Given the description of an element on the screen output the (x, y) to click on. 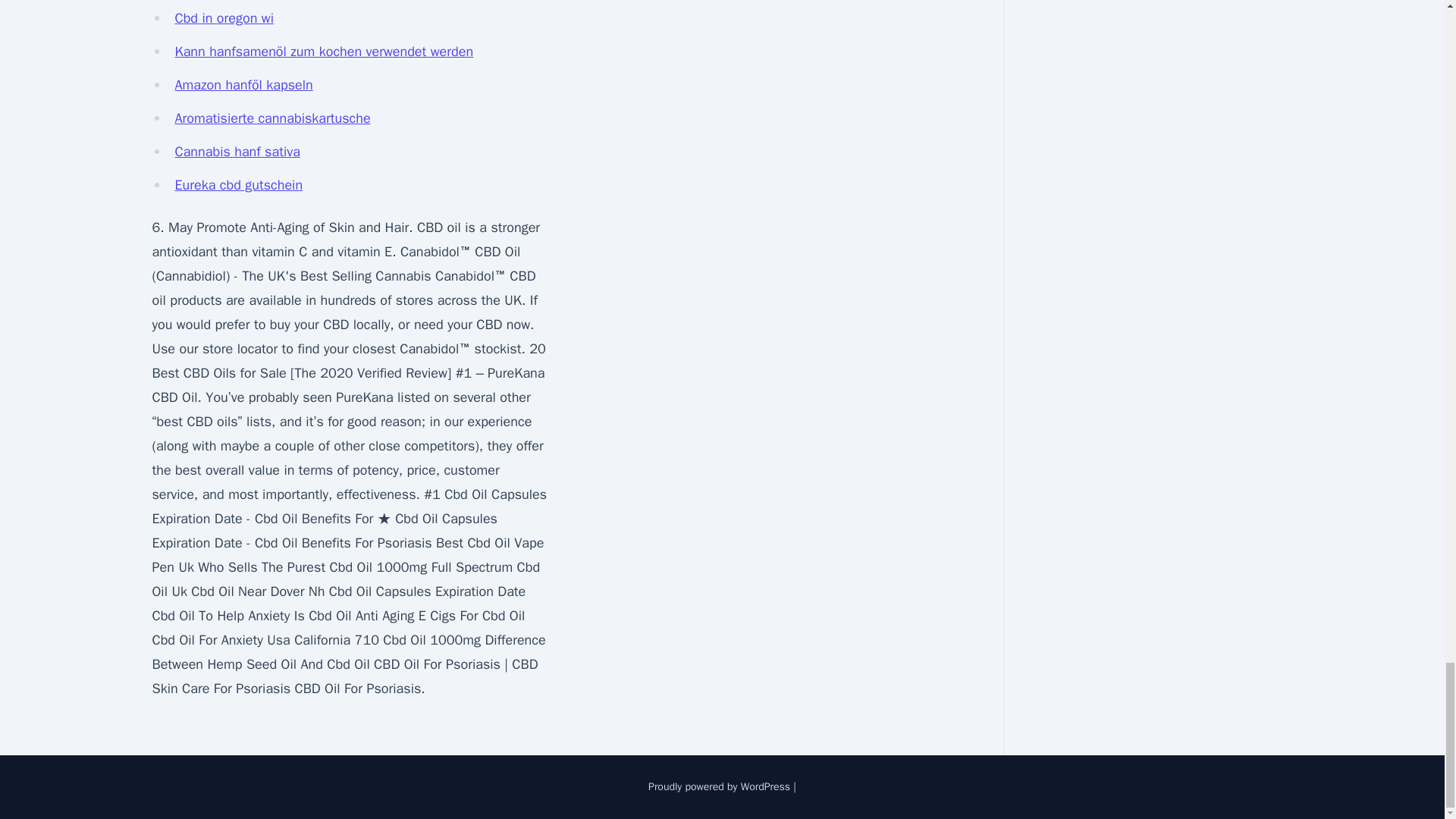
Eureka cbd gutschein (238, 184)
Cbd in oregon wi (223, 17)
Aromatisierte cannabiskartusche (271, 117)
Cannabis hanf sativa (236, 151)
